Given the description of an element on the screen output the (x, y) to click on. 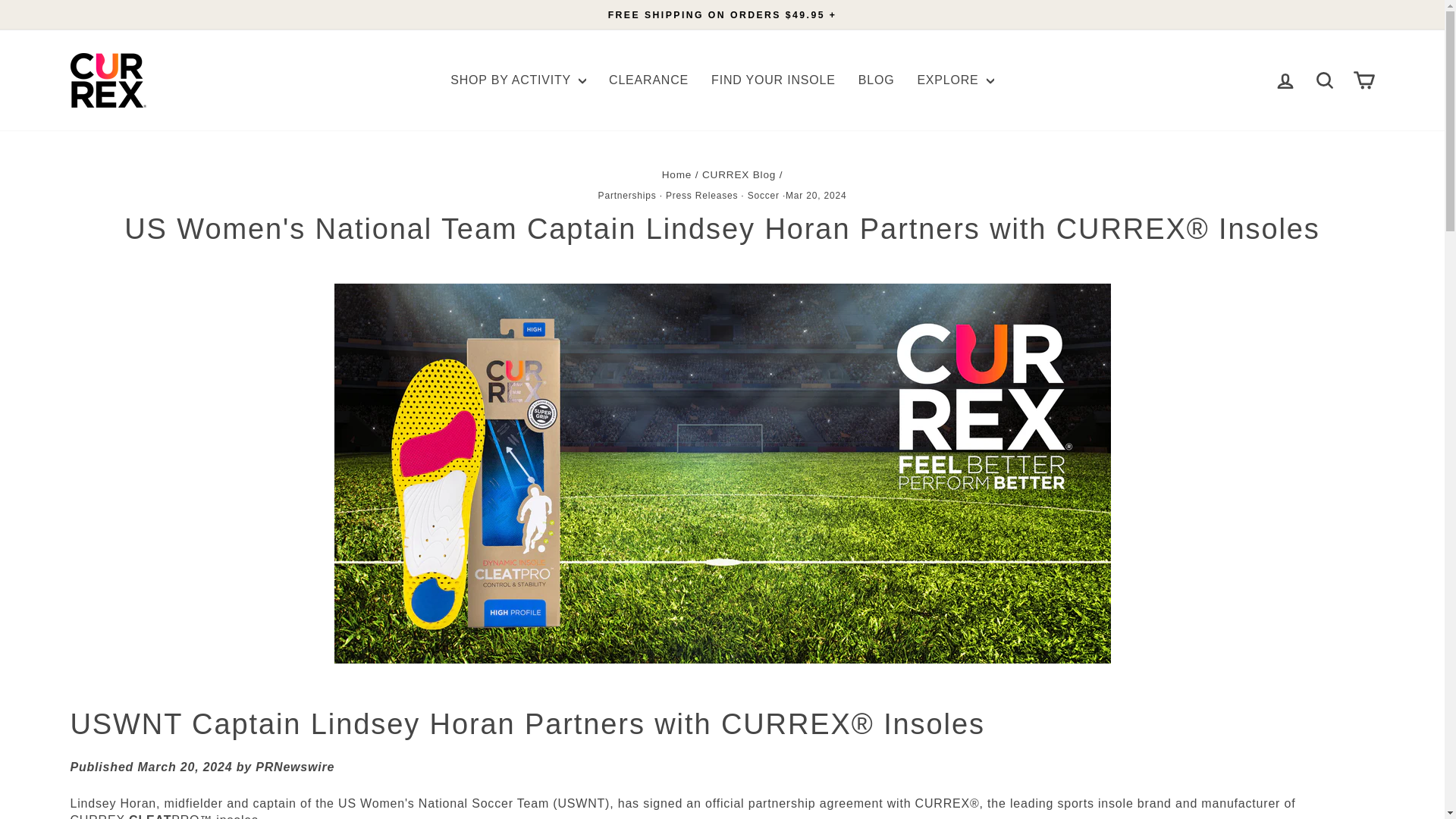
ACCOUNT (1284, 80)
Shop CURREX CLEATPRO Insoles (163, 815)
Back to the frontpage (676, 174)
ICON-SEARCH (1324, 79)
